Given the description of an element on the screen output the (x, y) to click on. 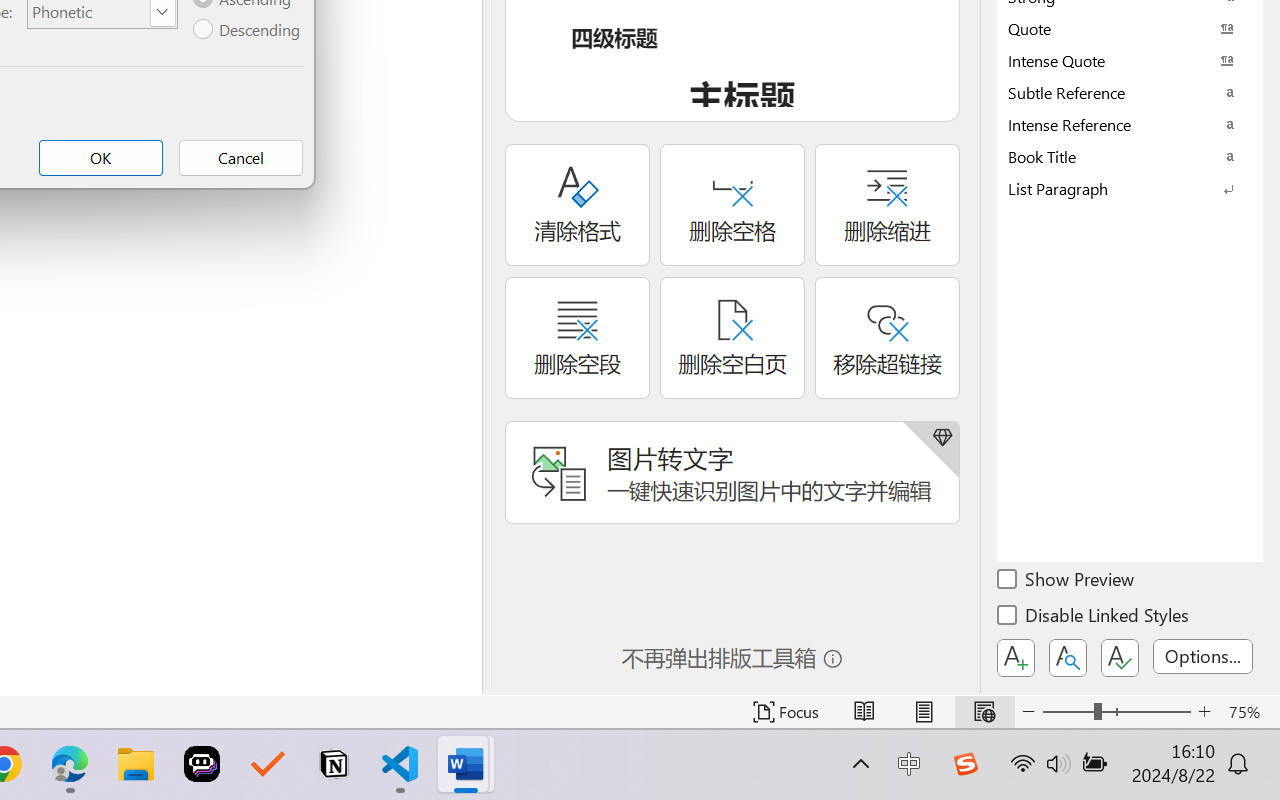
Intense Reference (1130, 124)
Poe (201, 764)
Focus  (786, 712)
Descending (248, 29)
